Given the description of an element on the screen output the (x, y) to click on. 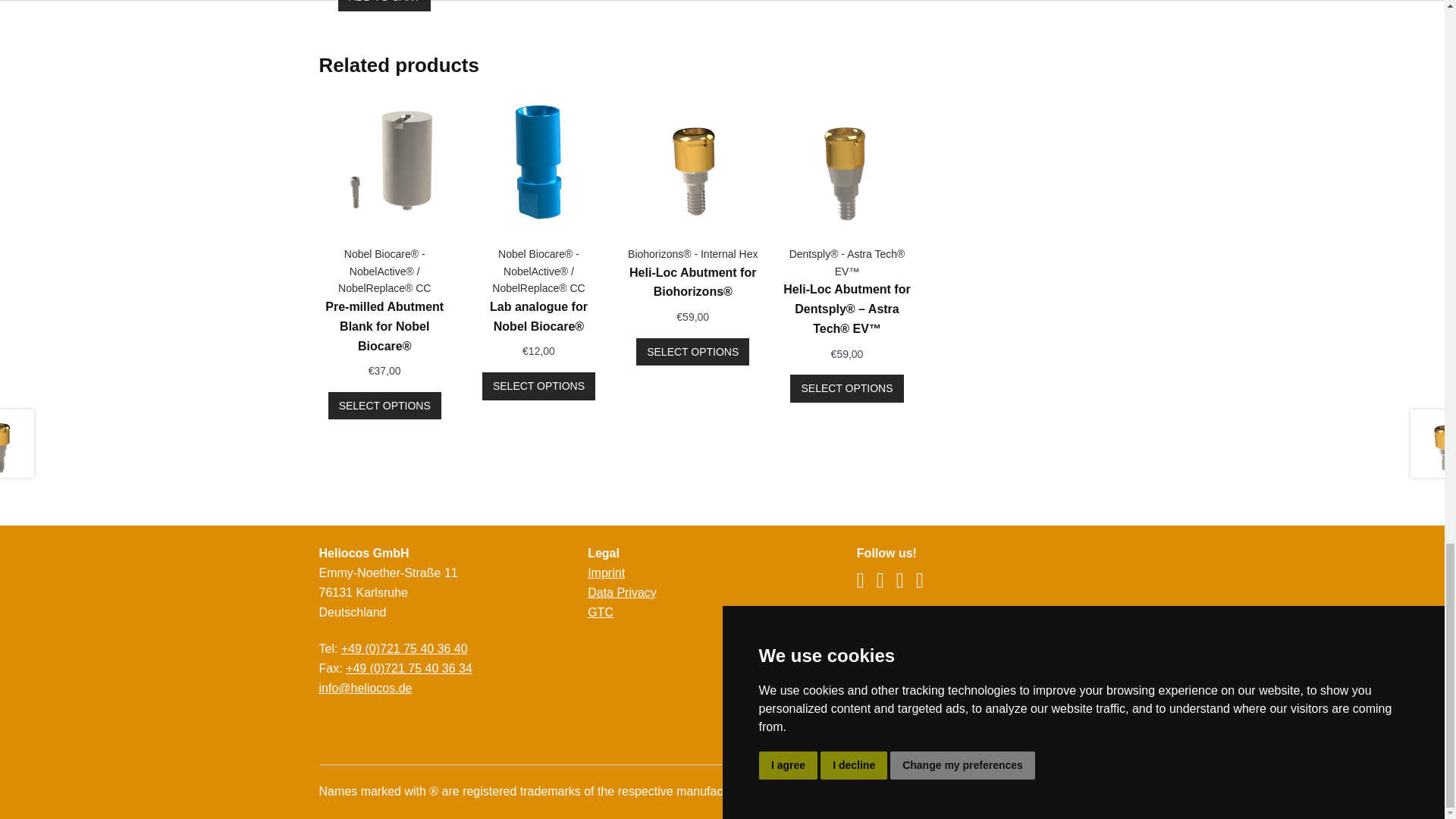
SELECT OPTIONS (692, 352)
ADD TO CART (383, 5)
SELECT OPTIONS (385, 406)
SELECT OPTIONS (538, 386)
SELECT OPTIONS (846, 388)
